Given the description of an element on the screen output the (x, y) to click on. 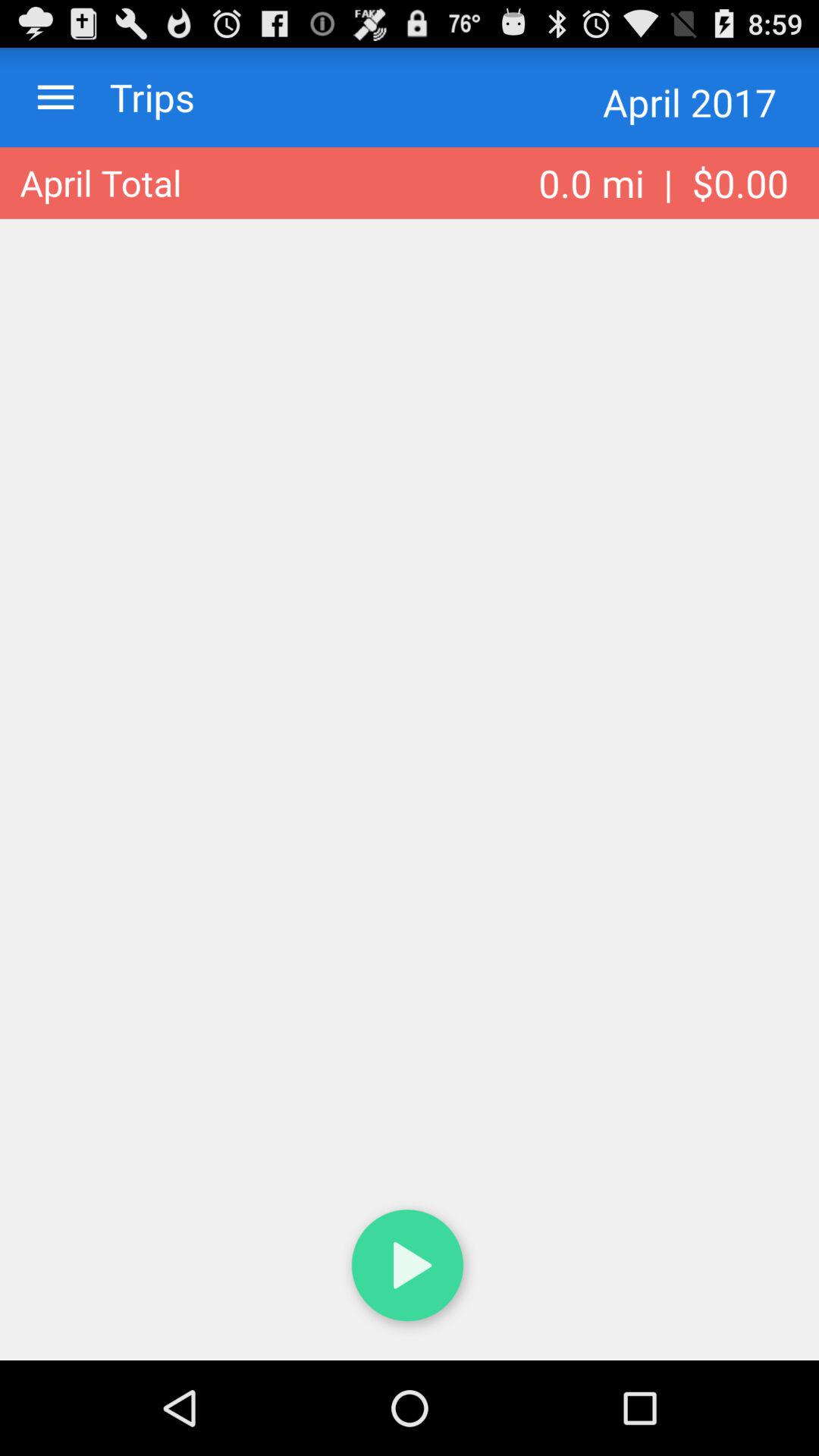
show options (55, 97)
